Given the description of an element on the screen output the (x, y) to click on. 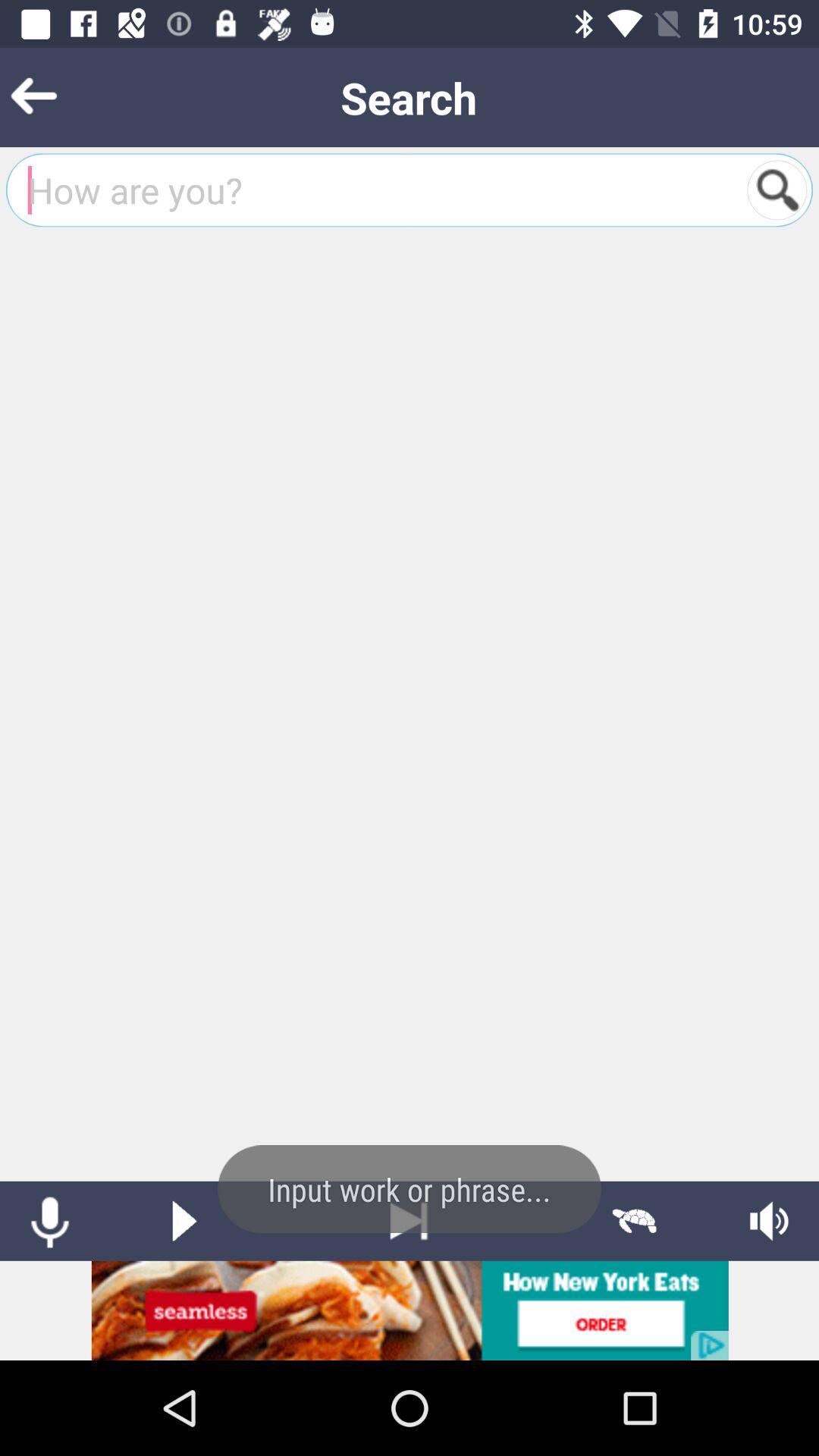
go to play button (184, 1220)
